Given the description of an element on the screen output the (x, y) to click on. 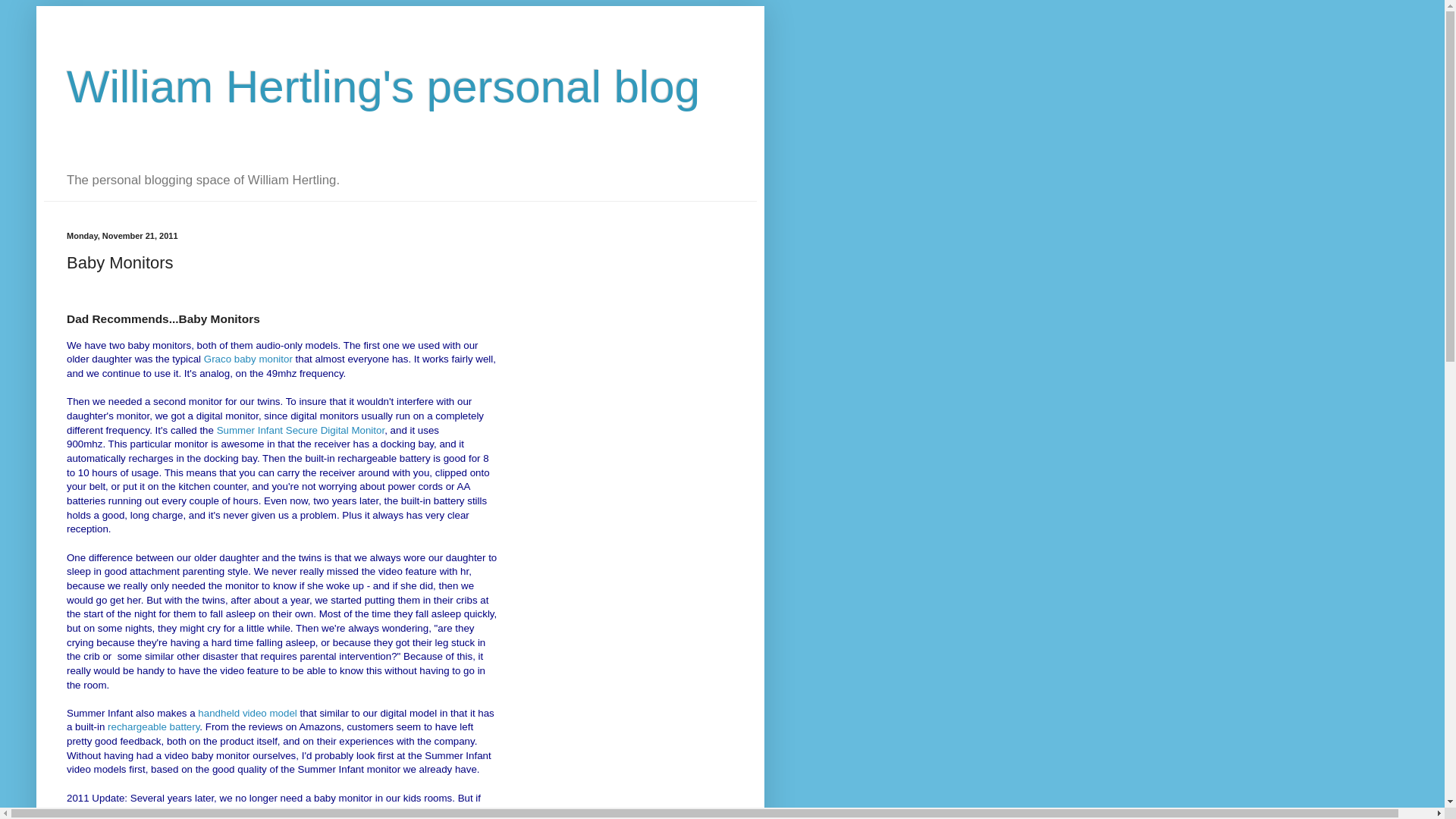
rechargeable battery (153, 726)
William Hertling's personal blog (383, 86)
handheld video model (247, 713)
Summer Infant Secure Digital Monitor (300, 430)
Graco baby monitor (247, 358)
